Given the description of an element on the screen output the (x, y) to click on. 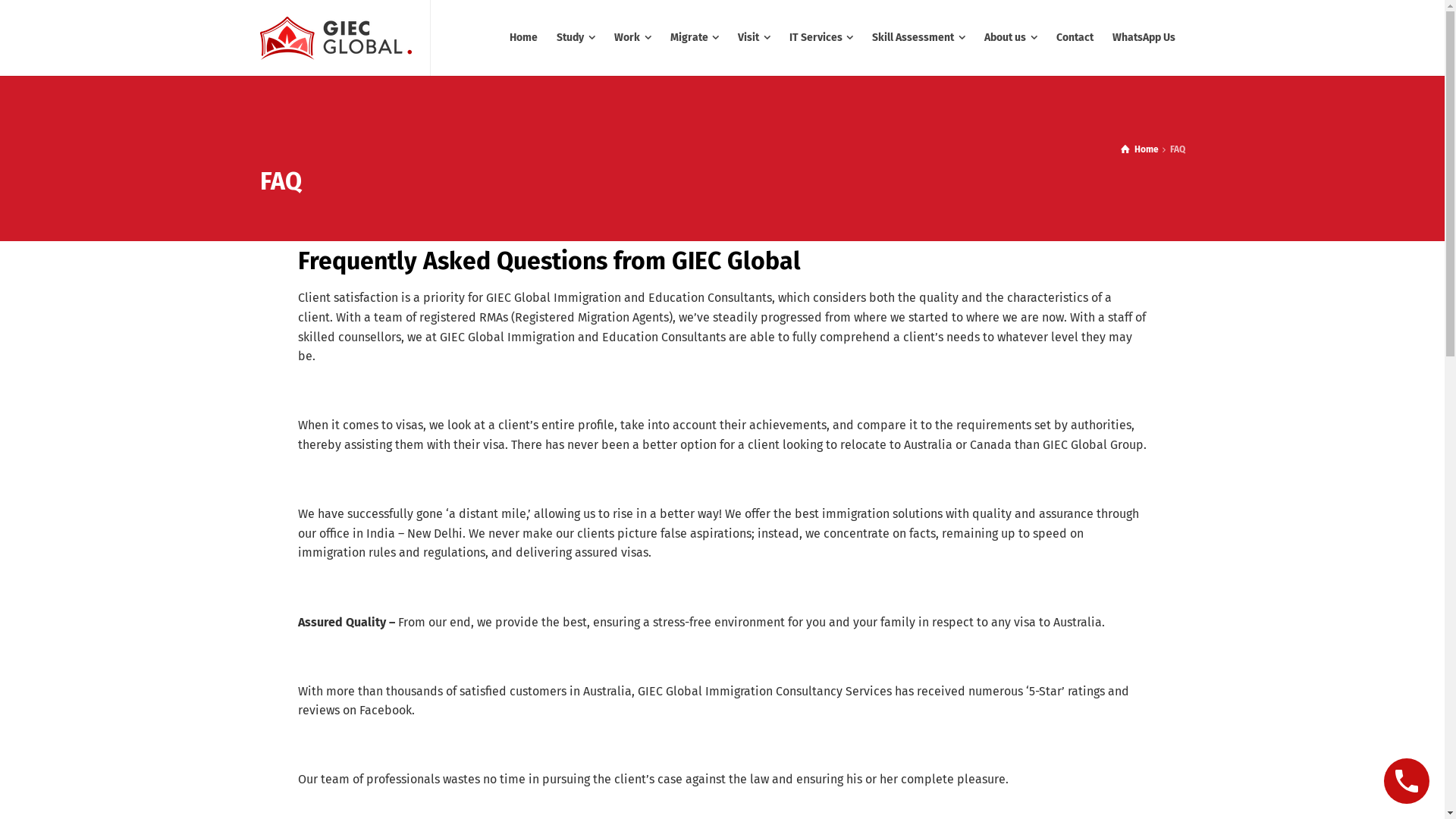
Home Element type: text (523, 37)
Migrate Element type: text (695, 37)
About us Element type: text (1011, 37)
IT Services Element type: text (821, 37)
Skill Assessment Element type: text (918, 37)
Work Element type: text (633, 37)
Study Element type: text (576, 37)
WhatsApp Us Element type: text (1143, 37)
Visit Element type: text (754, 37)
Home Element type: text (1139, 149)
Contact Element type: text (1074, 37)
